Given the description of an element on the screen output the (x, y) to click on. 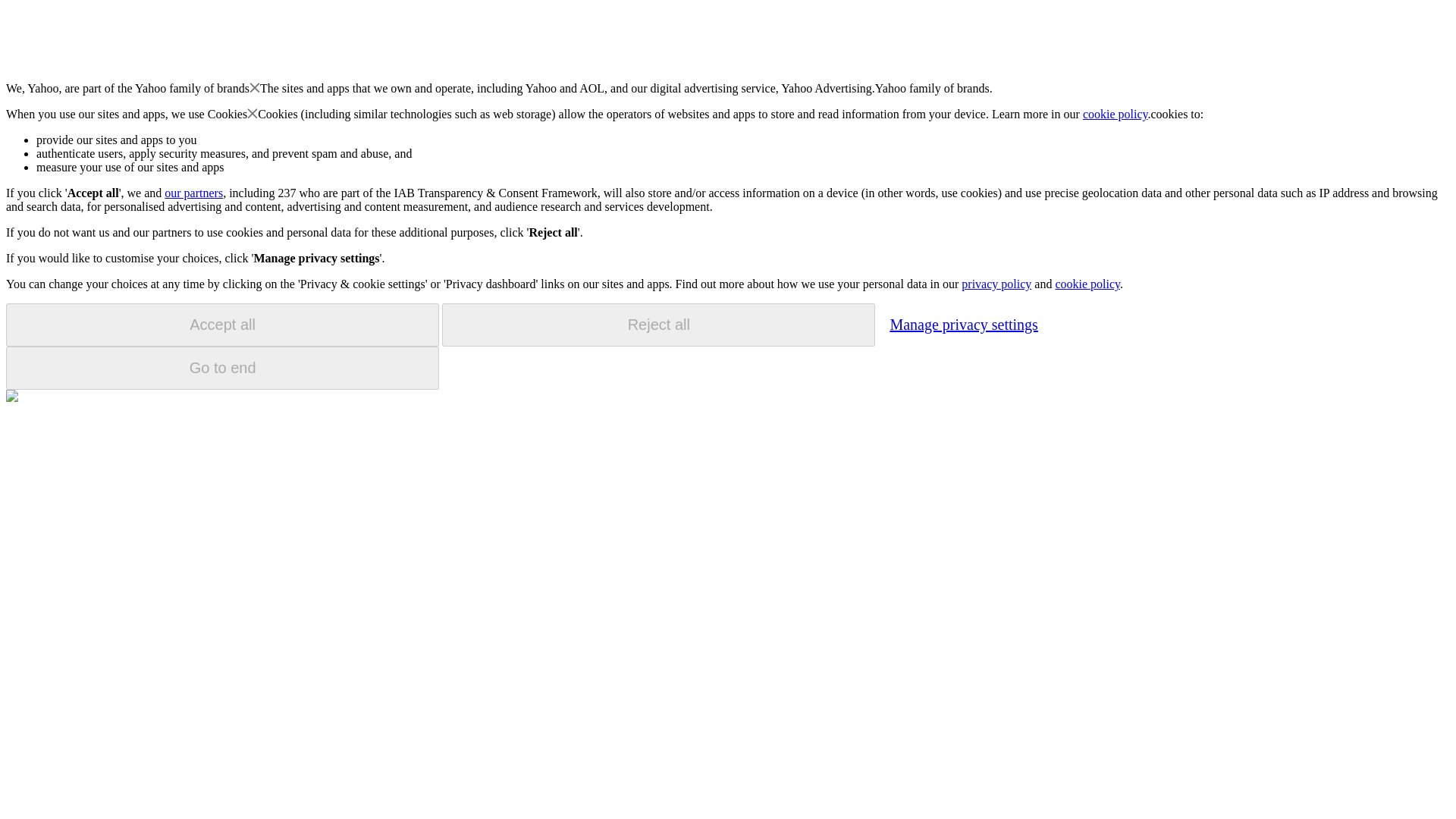
cookie policy (1086, 283)
Reject all (658, 324)
privacy policy (995, 283)
Accept all (222, 324)
cookie policy (1115, 113)
Go to end (222, 367)
Manage privacy settings (963, 323)
our partners (193, 192)
